Given the description of an element on the screen output the (x, y) to click on. 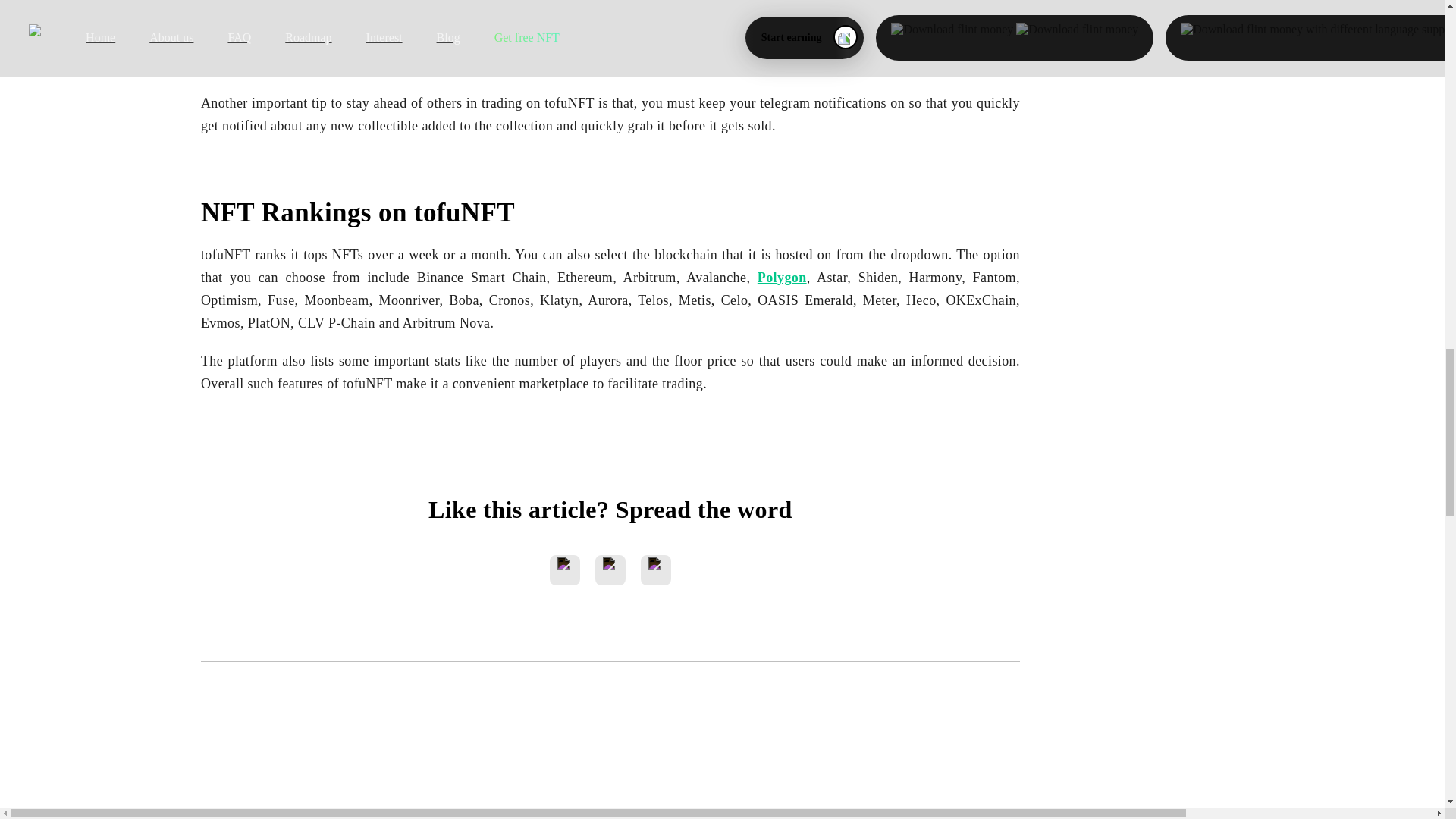
Polygon (781, 277)
